Given the description of an element on the screen output the (x, y) to click on. 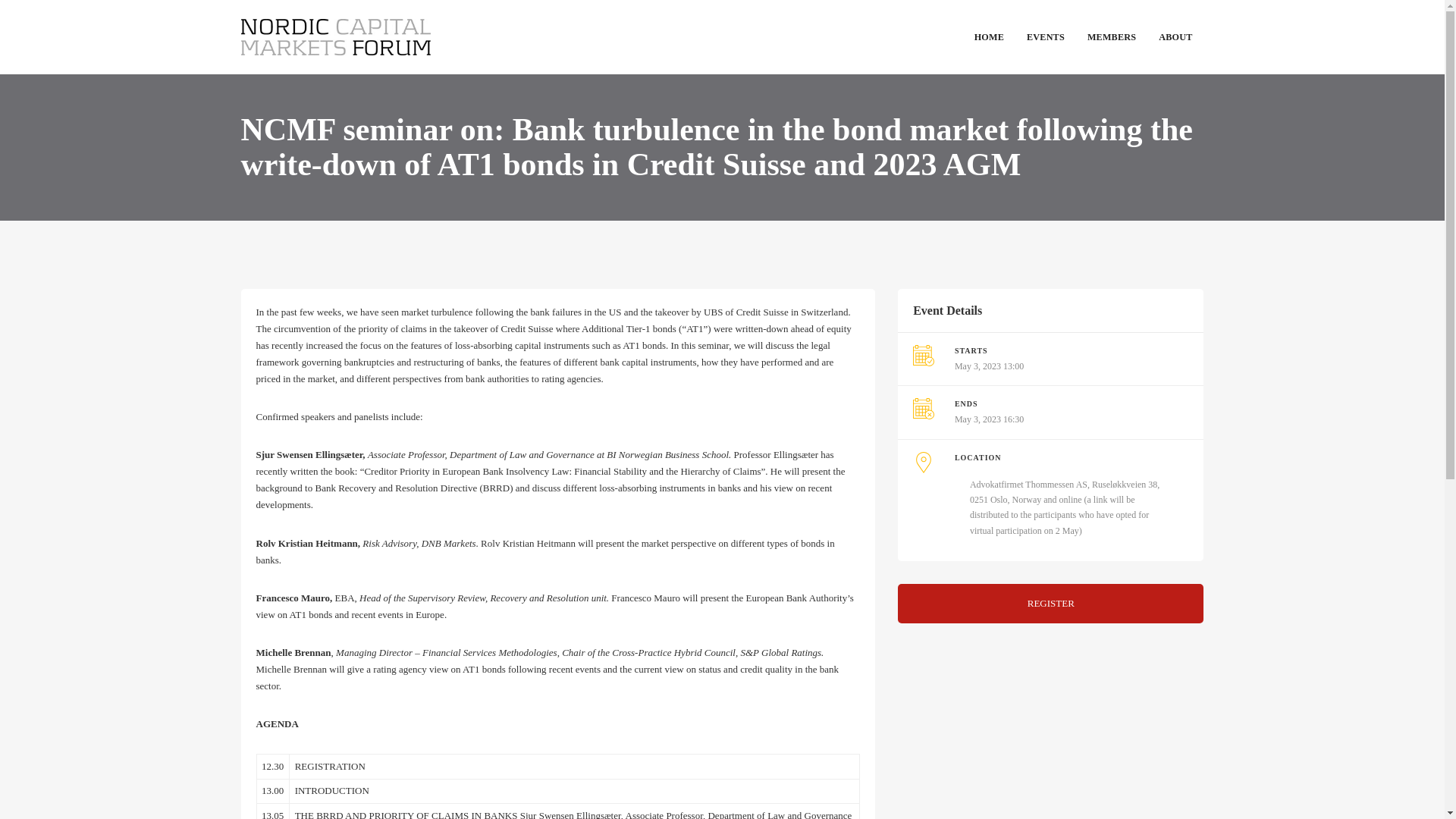
HOME (988, 37)
MEMBERS (1111, 37)
EVENTS (1044, 37)
ABOUT (1175, 37)
